Given the description of an element on the screen output the (x, y) to click on. 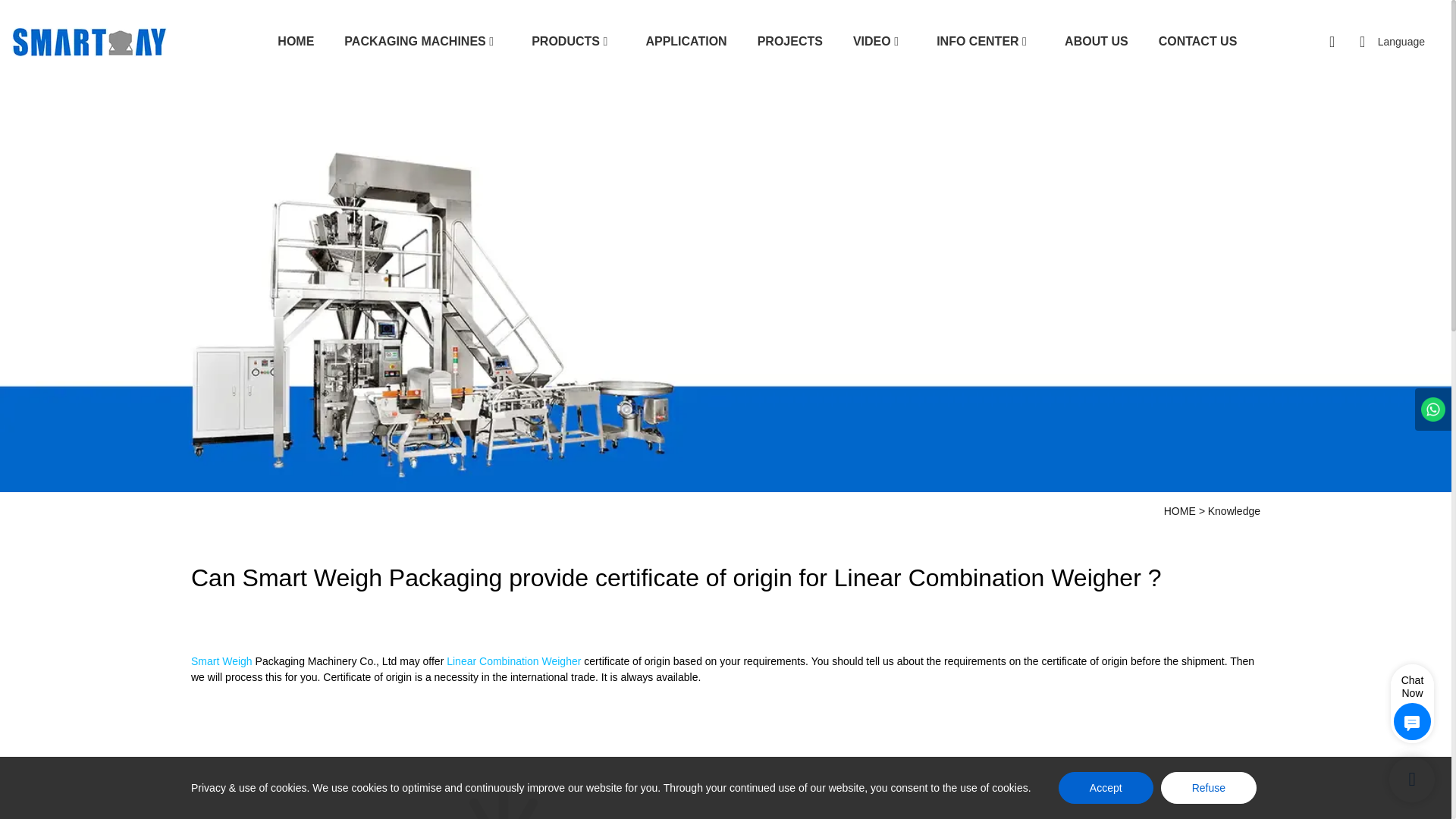
Linear Combination Weigher (513, 661)
Smart Weigh (220, 661)
APPLICATION (685, 40)
VIDEO (872, 40)
HOME (296, 40)
PACKAGING MACHINES (413, 40)
PRODUCTS (565, 40)
PROJECTS (789, 40)
INFO CENTER (976, 40)
